Given the description of an element on the screen output the (x, y) to click on. 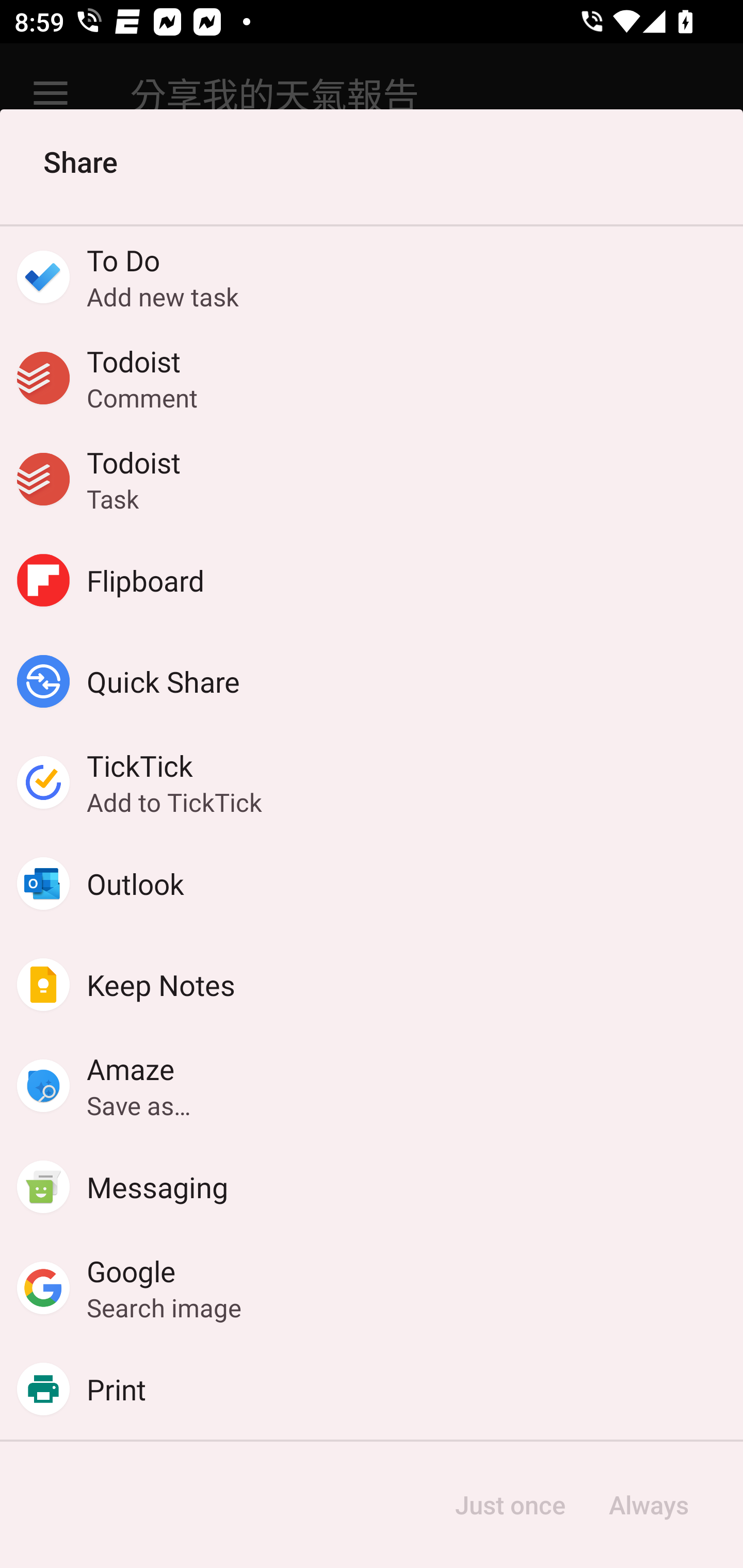
To Do Add new task (371, 276)
Todoist Comment (371, 377)
Todoist Task (371, 478)
Flipboard (371, 579)
Quick Share (371, 681)
TickTick Add to TickTick (371, 782)
Outlook (371, 883)
Keep Notes (371, 984)
Amaze Save as… (371, 1085)
Messaging (371, 1186)
Google Search image (371, 1288)
Print (371, 1389)
Just once (509, 1504)
Always (648, 1504)
